Given the description of an element on the screen output the (x, y) to click on. 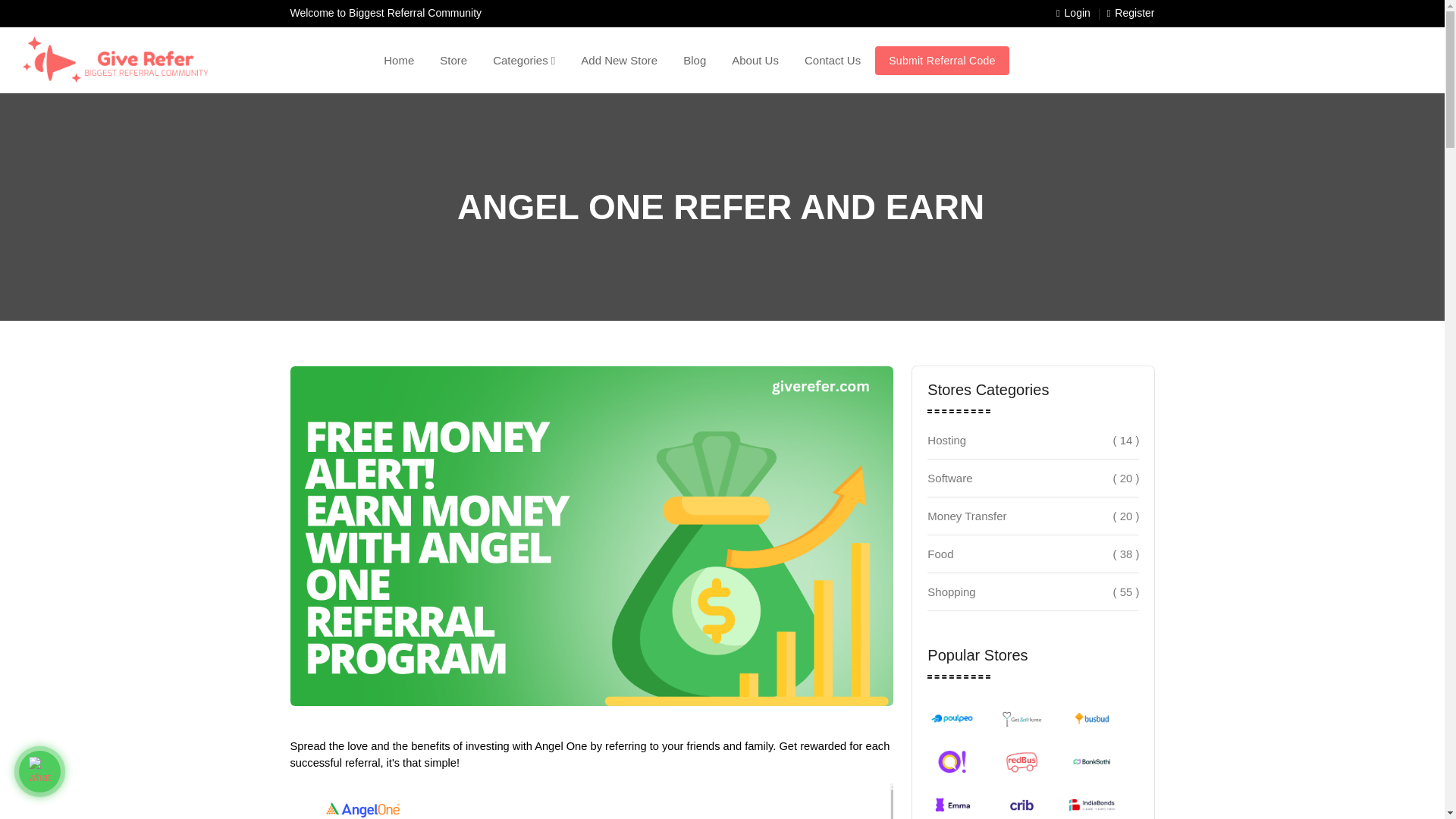
About Us (755, 60)
Add New Store (618, 60)
Categories (523, 60)
Login (1073, 13)
Submit Referral Code (942, 60)
Contact Us (832, 60)
Register (1130, 13)
